Given the description of an element on the screen output the (x, y) to click on. 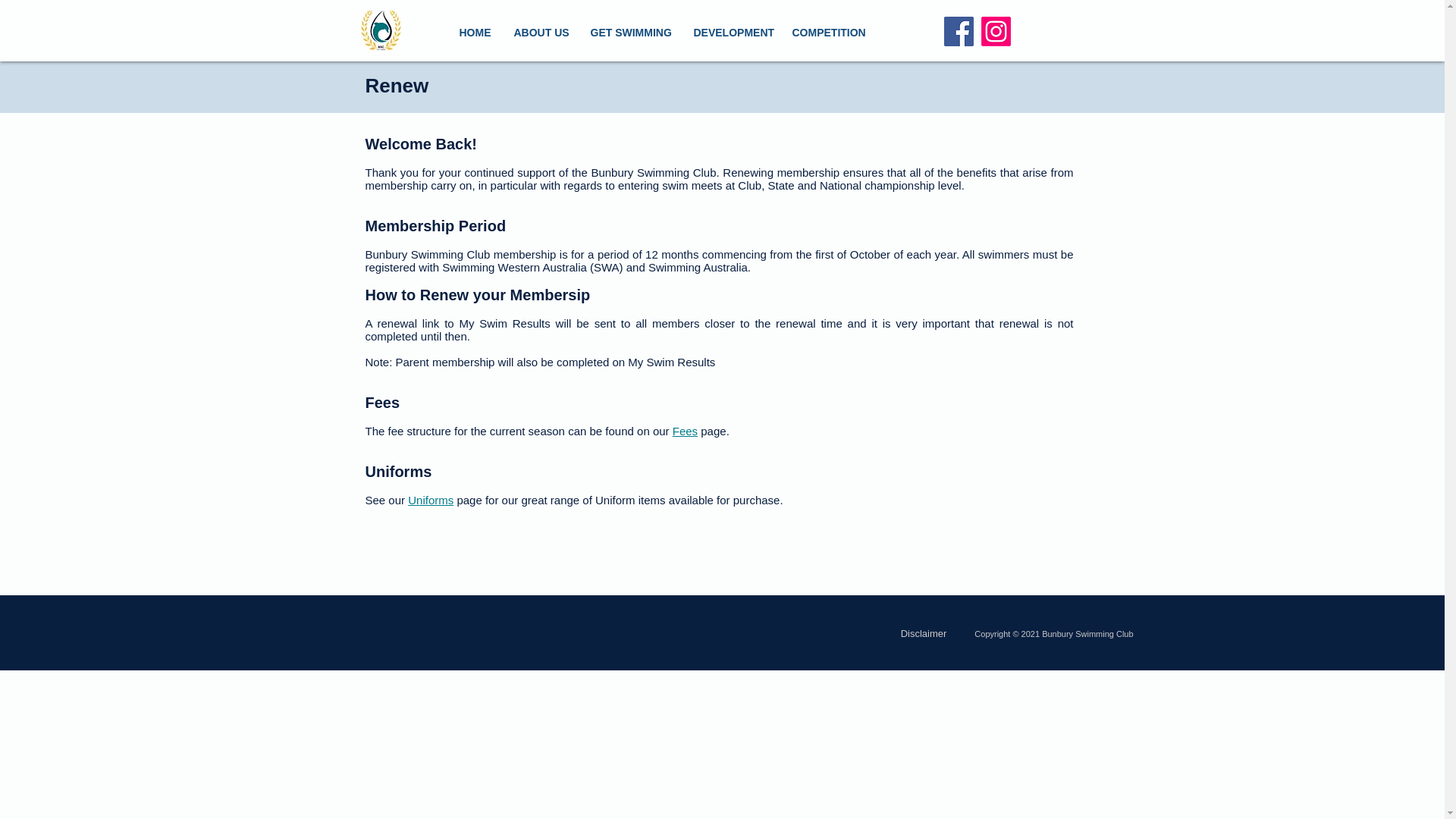
Disclaimer (924, 633)
DEVELOPMENT (731, 33)
HOME (474, 33)
GET SWIMMING (630, 33)
Uniforms (429, 499)
ABOUT US (540, 33)
Fees (684, 431)
COMPETITION (828, 33)
